Given the description of an element on the screen output the (x, y) to click on. 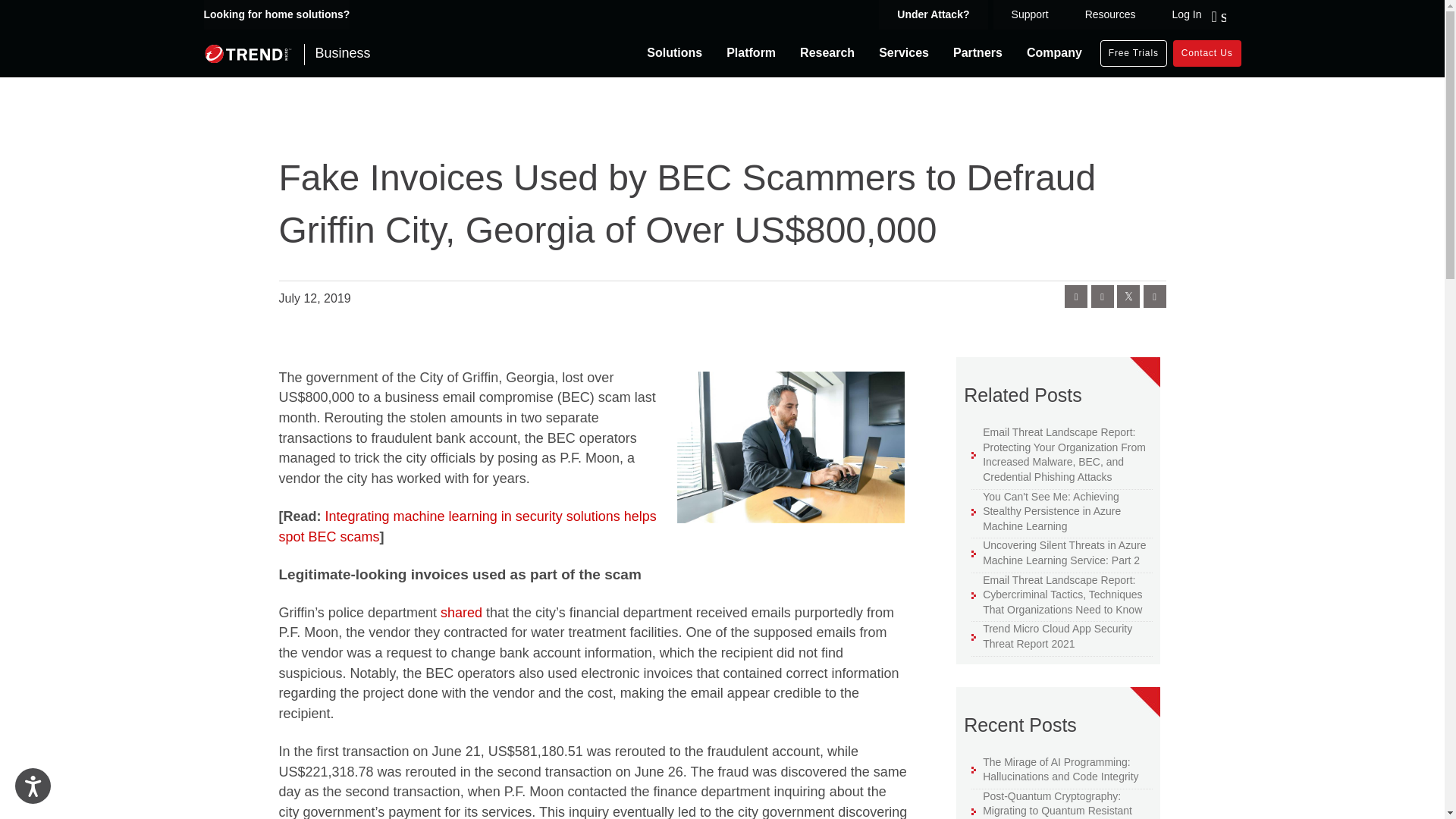
Open Accessibility Menu (32, 785)
Business (286, 53)
